Given the description of an element on the screen output the (x, y) to click on. 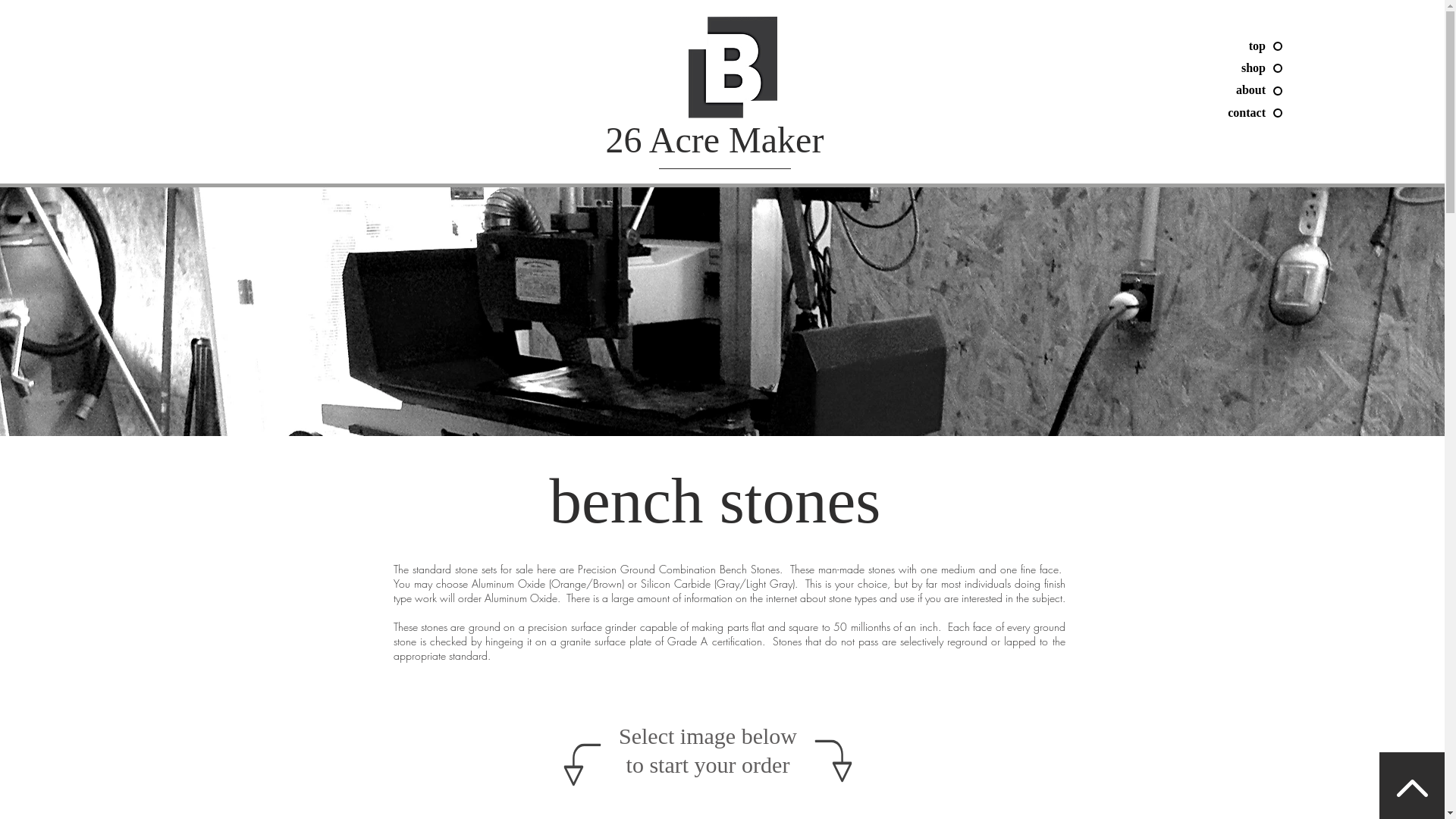
shop Element type: text (1167, 67)
about Element type: text (1167, 89)
top Element type: text (1167, 45)
contact Element type: text (1167, 112)
